Given the description of an element on the screen output the (x, y) to click on. 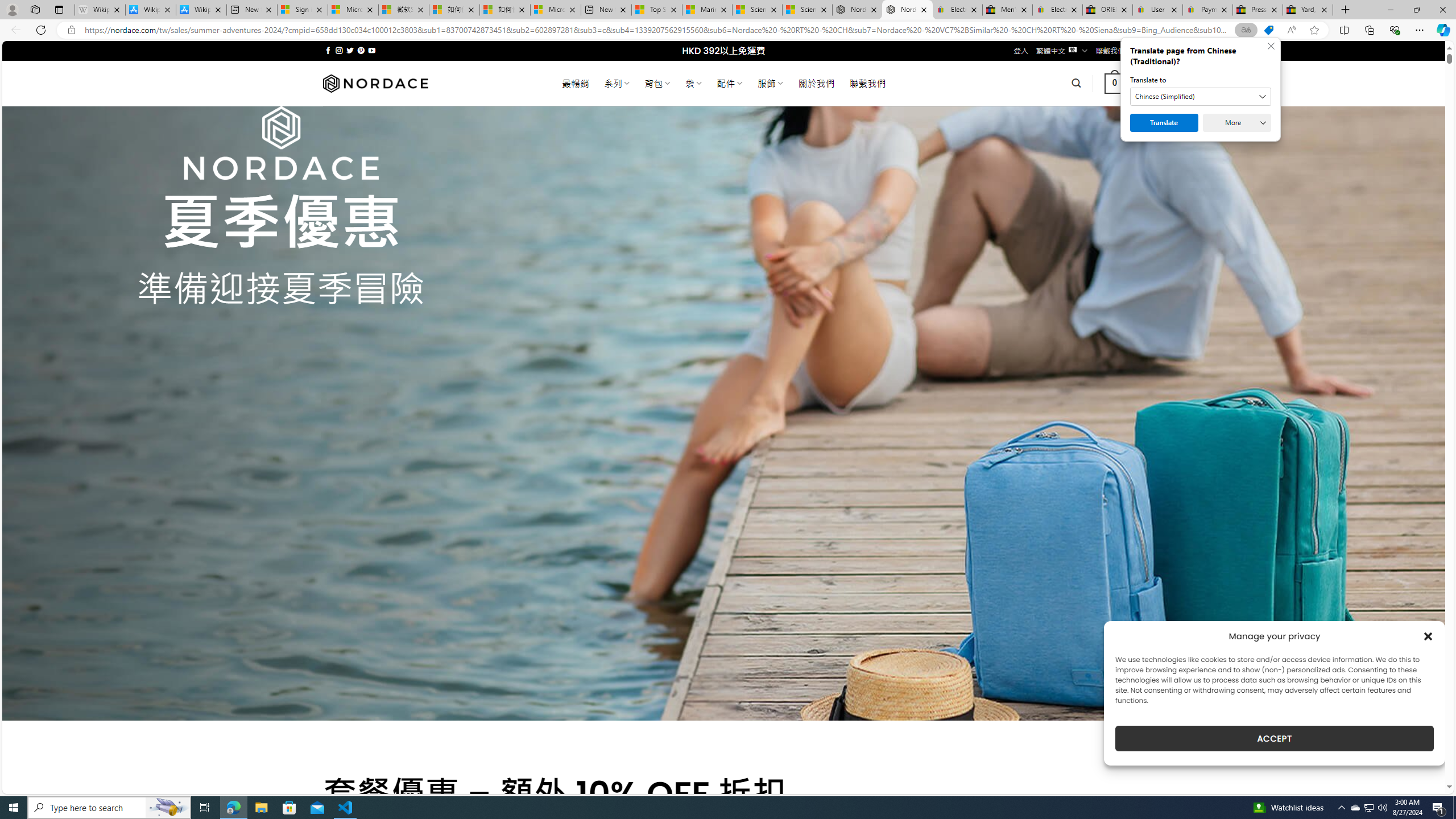
Translate (1163, 122)
  0   (1115, 83)
